Given the description of an element on the screen output the (x, y) to click on. 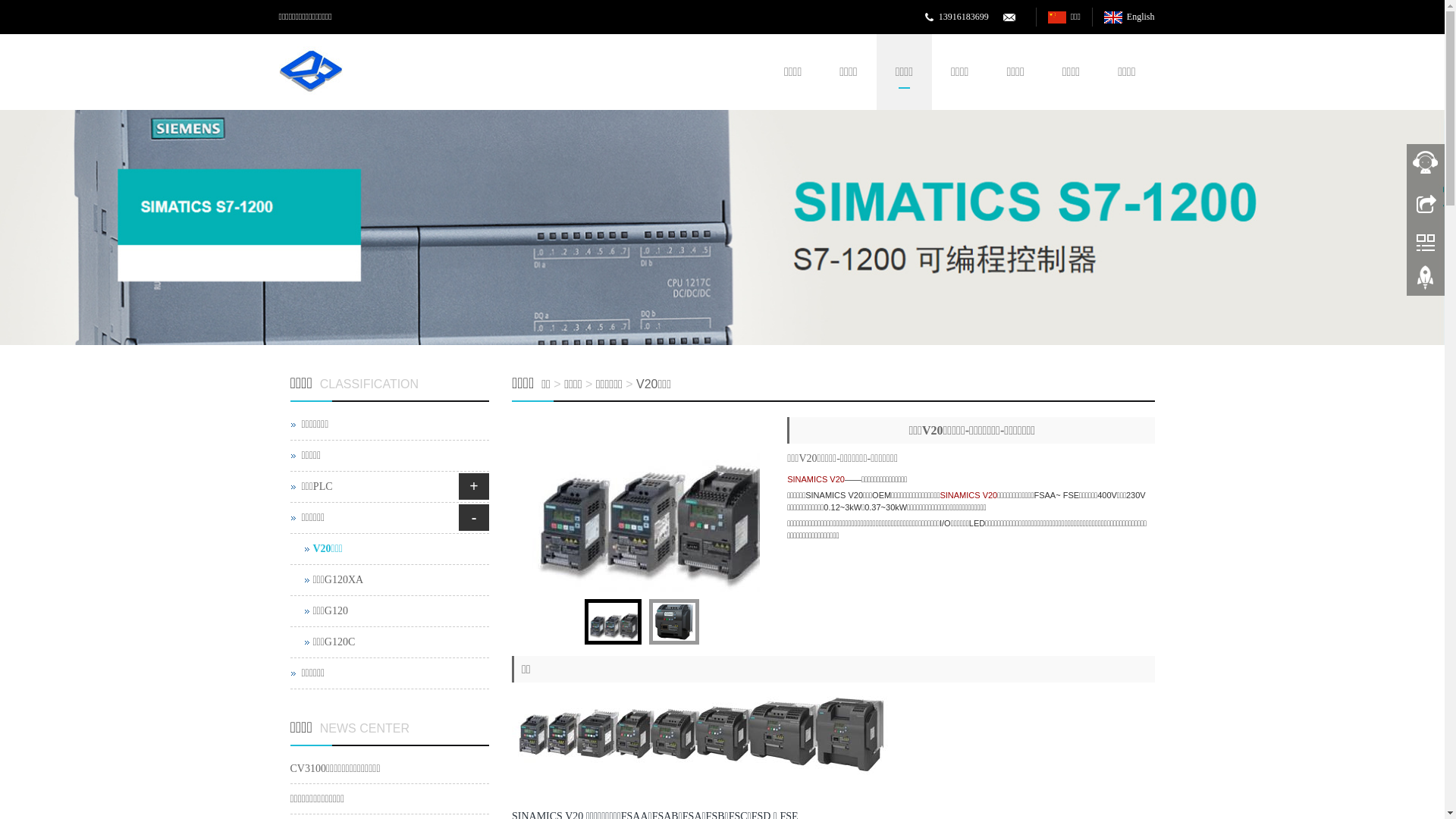
SINAMICS V20 Element type: text (968, 494)
English Element type: text (1129, 16)
2 Element type: hover (722, 227)
SINAMICS V20 Element type: text (815, 478)
prev Element type: text (492, 504)
13916183699 Element type: text (963, 16)
